Given the description of an element on the screen output the (x, y) to click on. 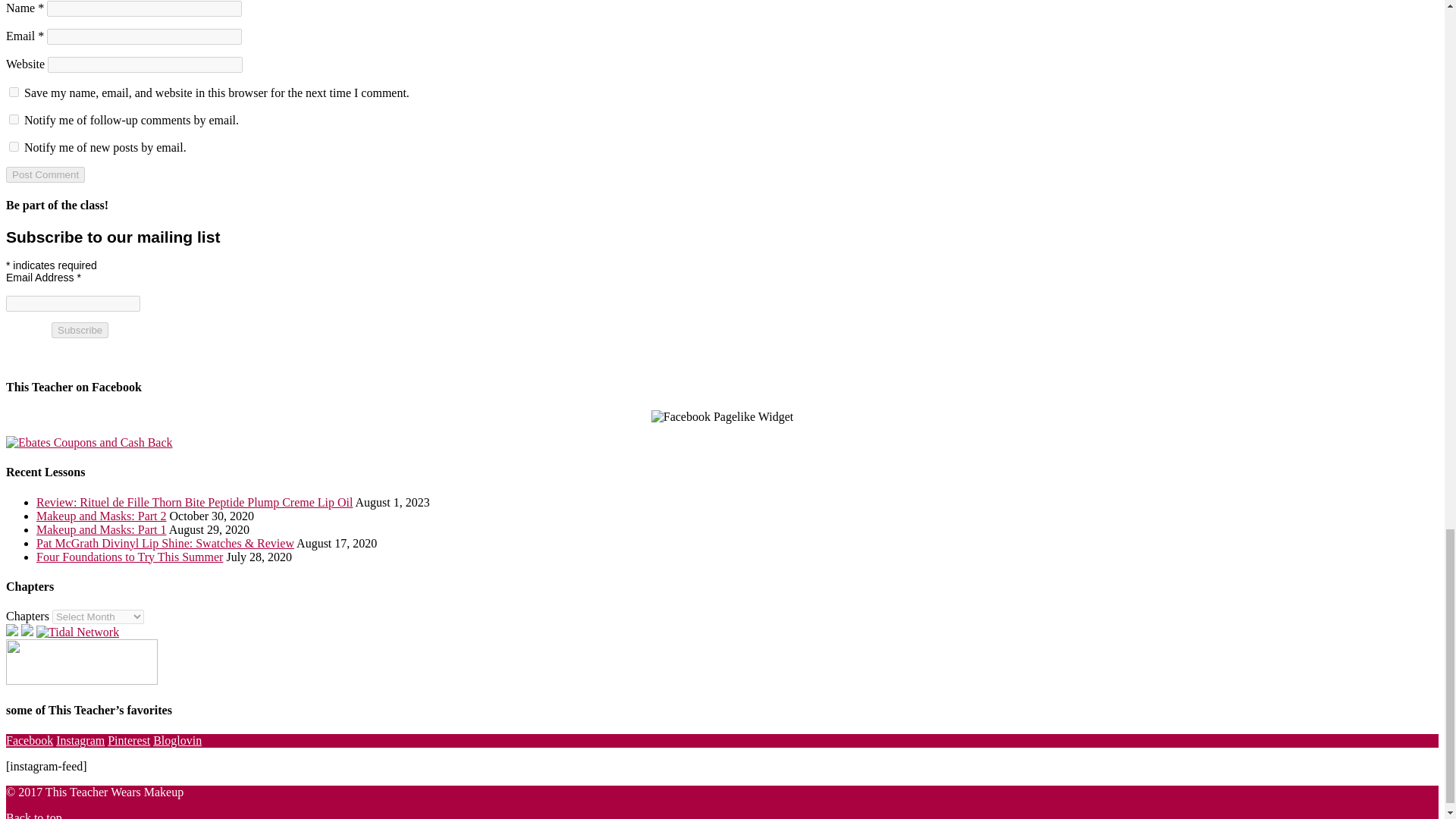
subscribe (13, 146)
Subscribe (78, 330)
Post Comment (44, 173)
yes (13, 91)
BrandBacker Member (11, 631)
subscribe (13, 119)
